Given the description of an element on the screen output the (x, y) to click on. 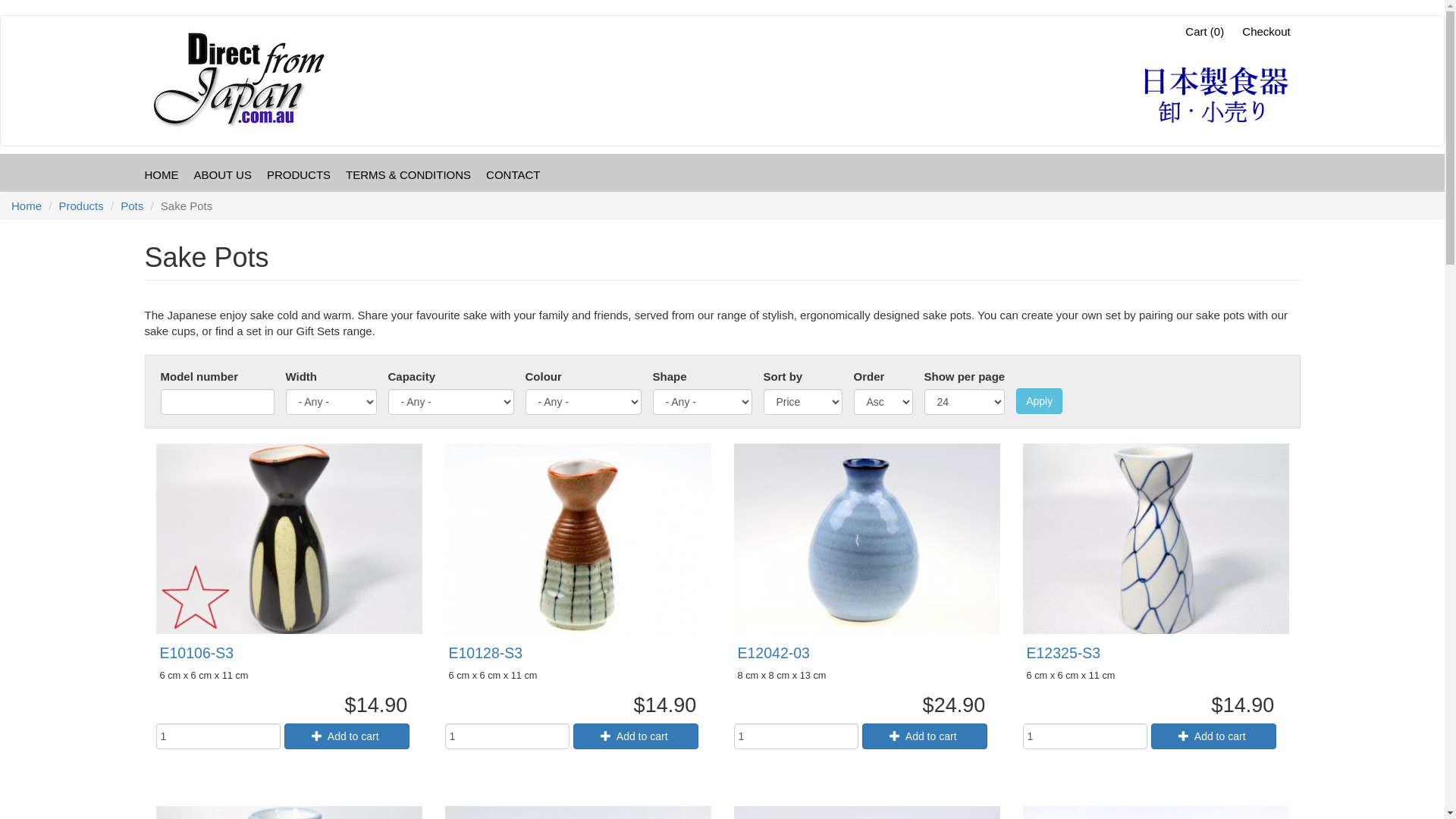
Home Element type: text (26, 205)
Home Element type: hover (246, 80)
TERMS & CONDITIONS Element type: text (407, 174)
PRODUCTS Element type: text (298, 174)
Add to cart Element type: text (1213, 736)
Add to cart Element type: text (635, 736)
Cart (0) Element type: text (1200, 31)
Products Element type: text (81, 205)
HOME Element type: text (161, 174)
Add to cart Element type: text (346, 736)
Add to cart Element type: text (924, 736)
Add to cart Element type: text (144, 12)
E10106-S3 Element type: text (196, 652)
E12042-03 Element type: text (773, 652)
Pots Element type: text (131, 205)
Checkout Element type: text (1265, 31)
E10128-S3 Element type: text (485, 652)
ABOUT US Element type: text (222, 174)
E12325-S3 Element type: text (1063, 652)
Apply Element type: text (1039, 401)
Skip to main content Element type: text (0, 15)
CONTACT Element type: text (512, 174)
